Given the description of an element on the screen output the (x, y) to click on. 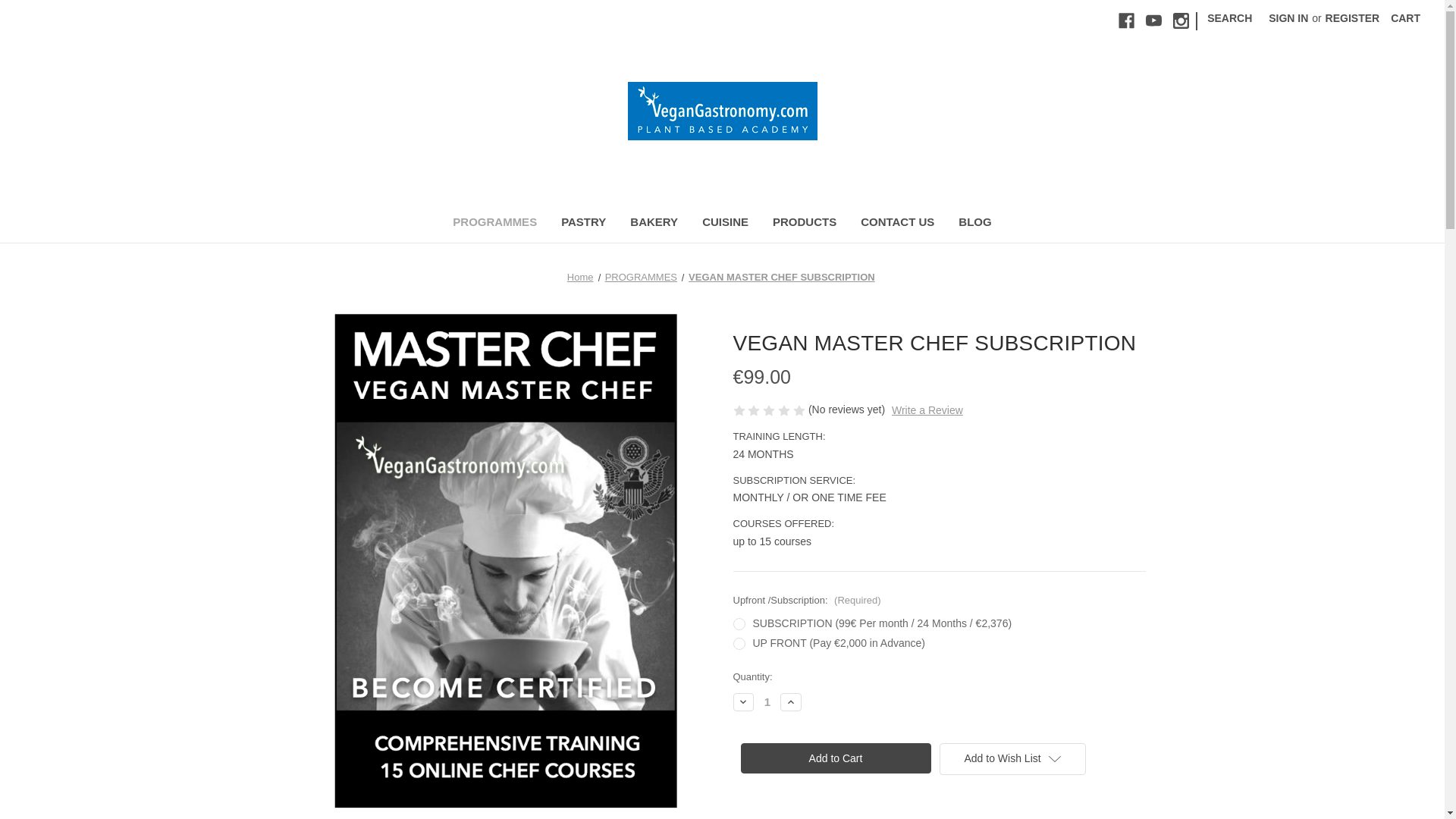
PASTRY (582, 223)
PRODUCTS (804, 223)
Increase Quantity of VEGAN MASTER CHEF SUBSCRIPTION (791, 701)
Facebook (1126, 20)
Add to Cart (834, 757)
PROGRAMMES (494, 223)
SIGN IN (1288, 18)
CONTACT US (897, 223)
CART (1404, 18)
BAKERY (653, 223)
Decrease Quantity of VEGAN MASTER CHEF SUBSCRIPTION (743, 701)
Vegan Gastronomy Culinary Academy (721, 110)
